Given the description of an element on the screen output the (x, y) to click on. 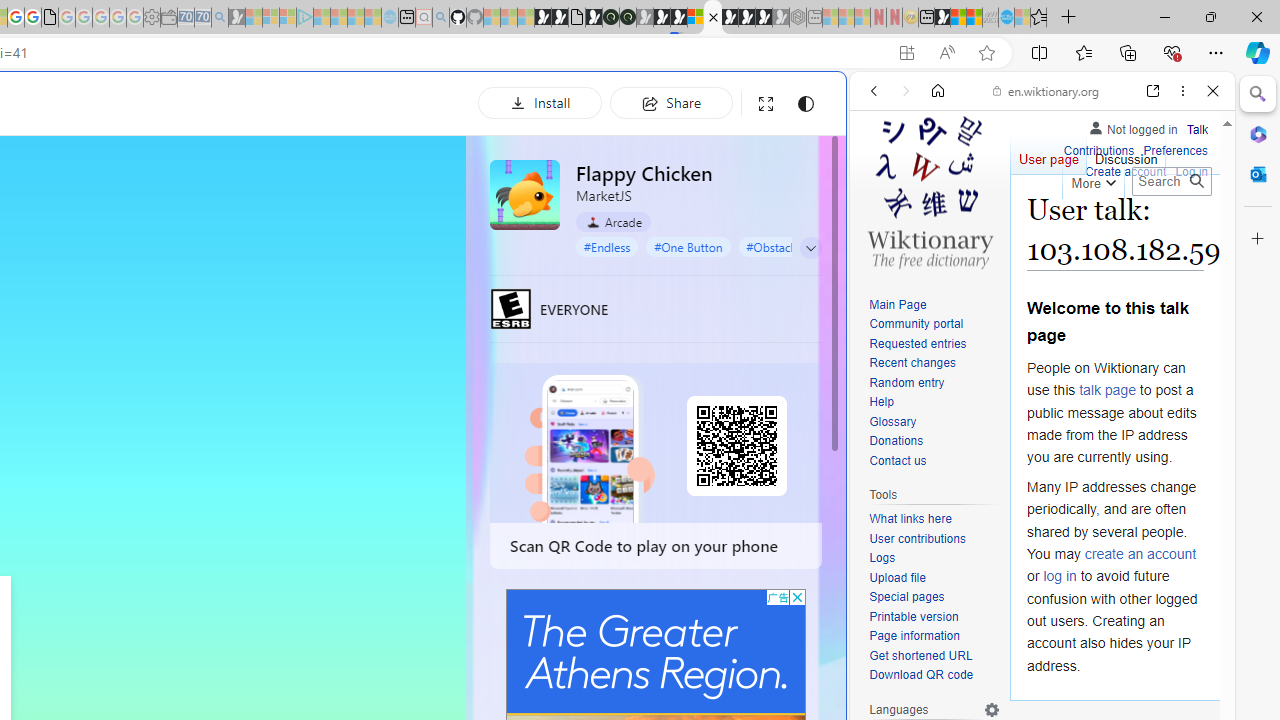
WEB   (882, 228)
Install (540, 102)
Download QR code (921, 675)
Go (1196, 181)
Wallet - Sleeping (168, 17)
Close Customize pane (1258, 239)
